Given the description of an element on the screen output the (x, y) to click on. 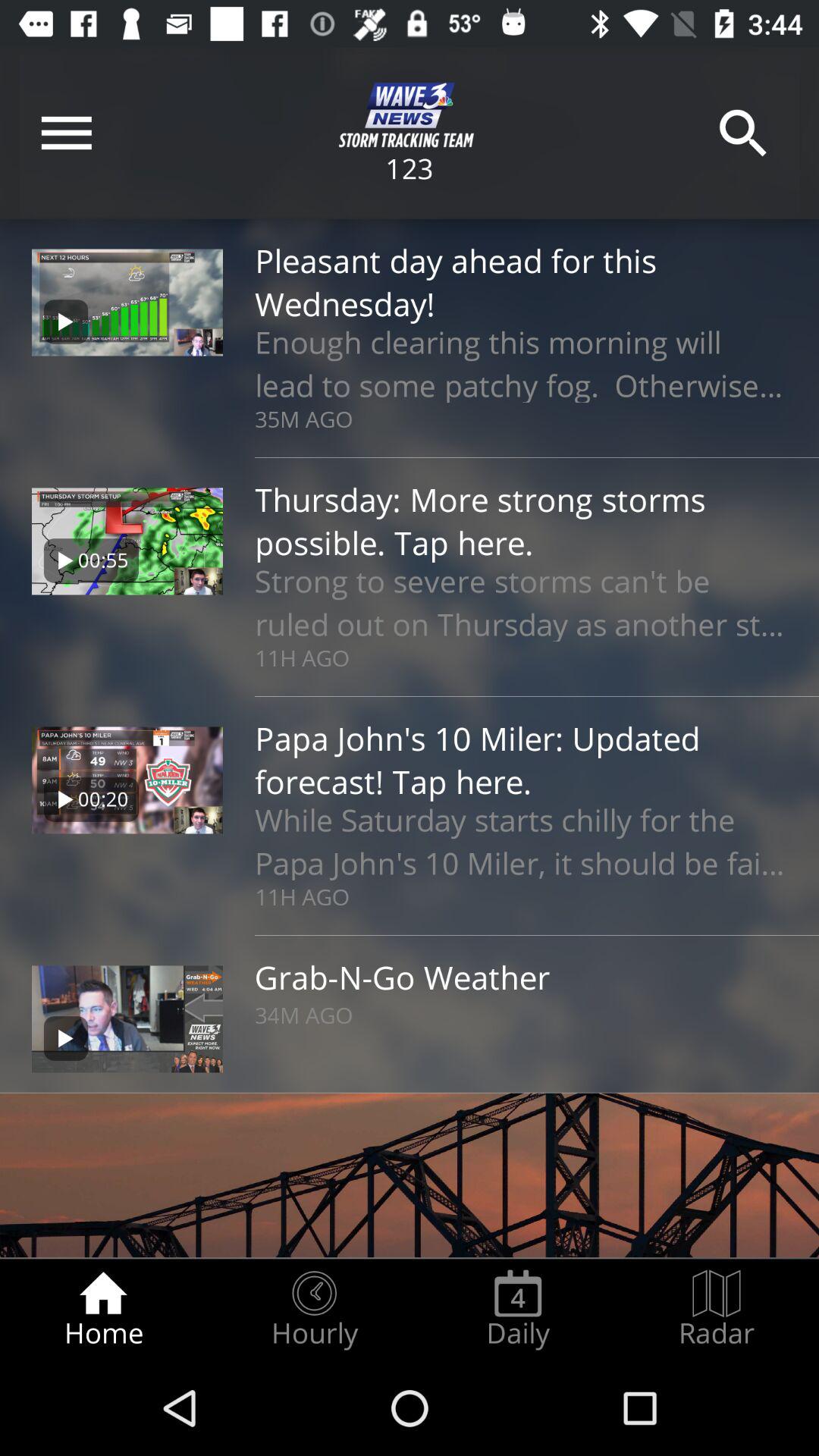
tap the radio button next to hourly item (518, 1309)
